Given the description of an element on the screen output the (x, y) to click on. 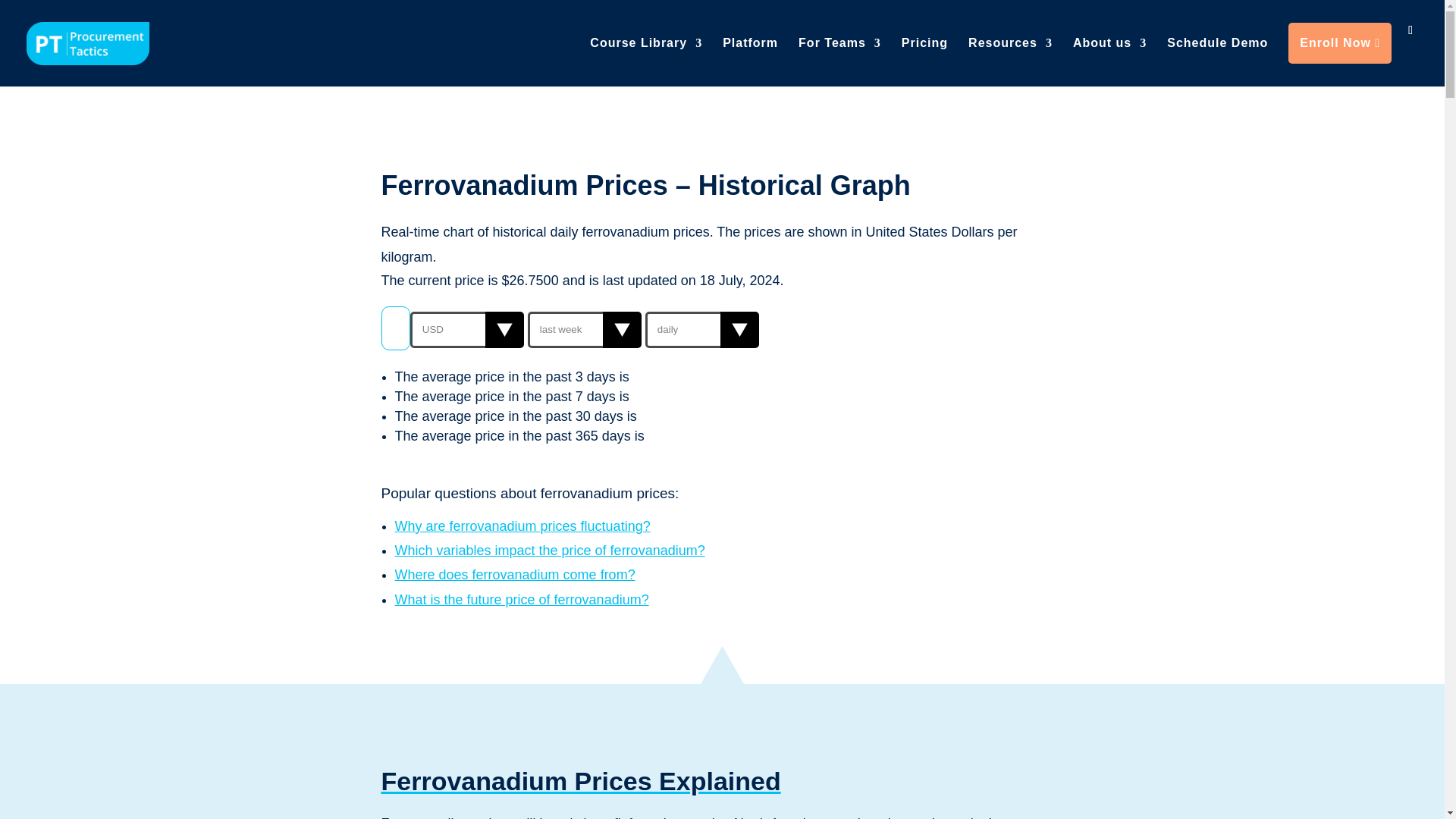
Platform (749, 54)
Course Library (645, 54)
Pricing (924, 54)
Resources (1010, 54)
For Teams (838, 54)
